Given the description of an element on the screen output the (x, y) to click on. 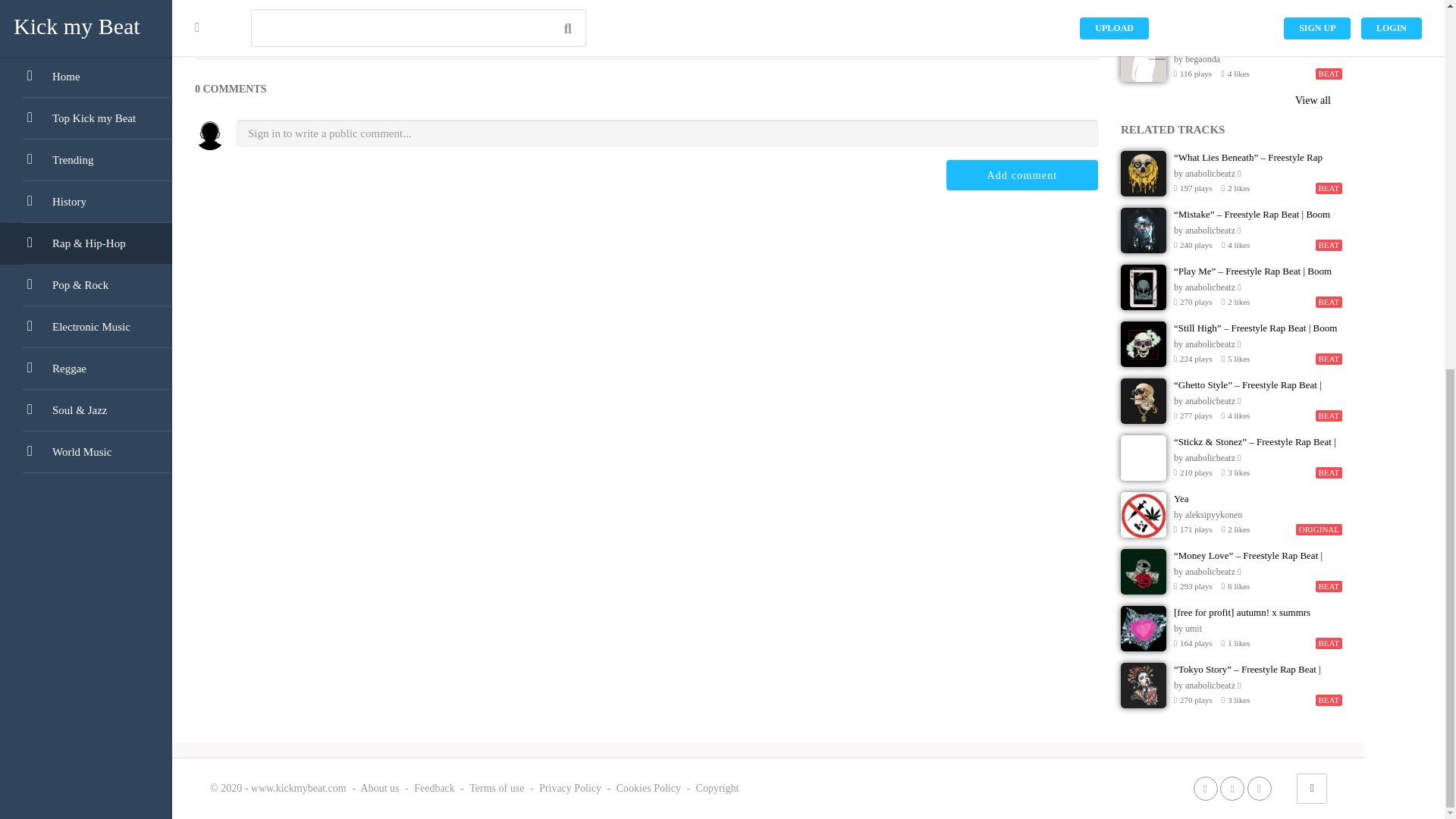
facebook (1205, 787)
instagram (1258, 787)
twitter (1232, 787)
